Given the description of an element on the screen output the (x, y) to click on. 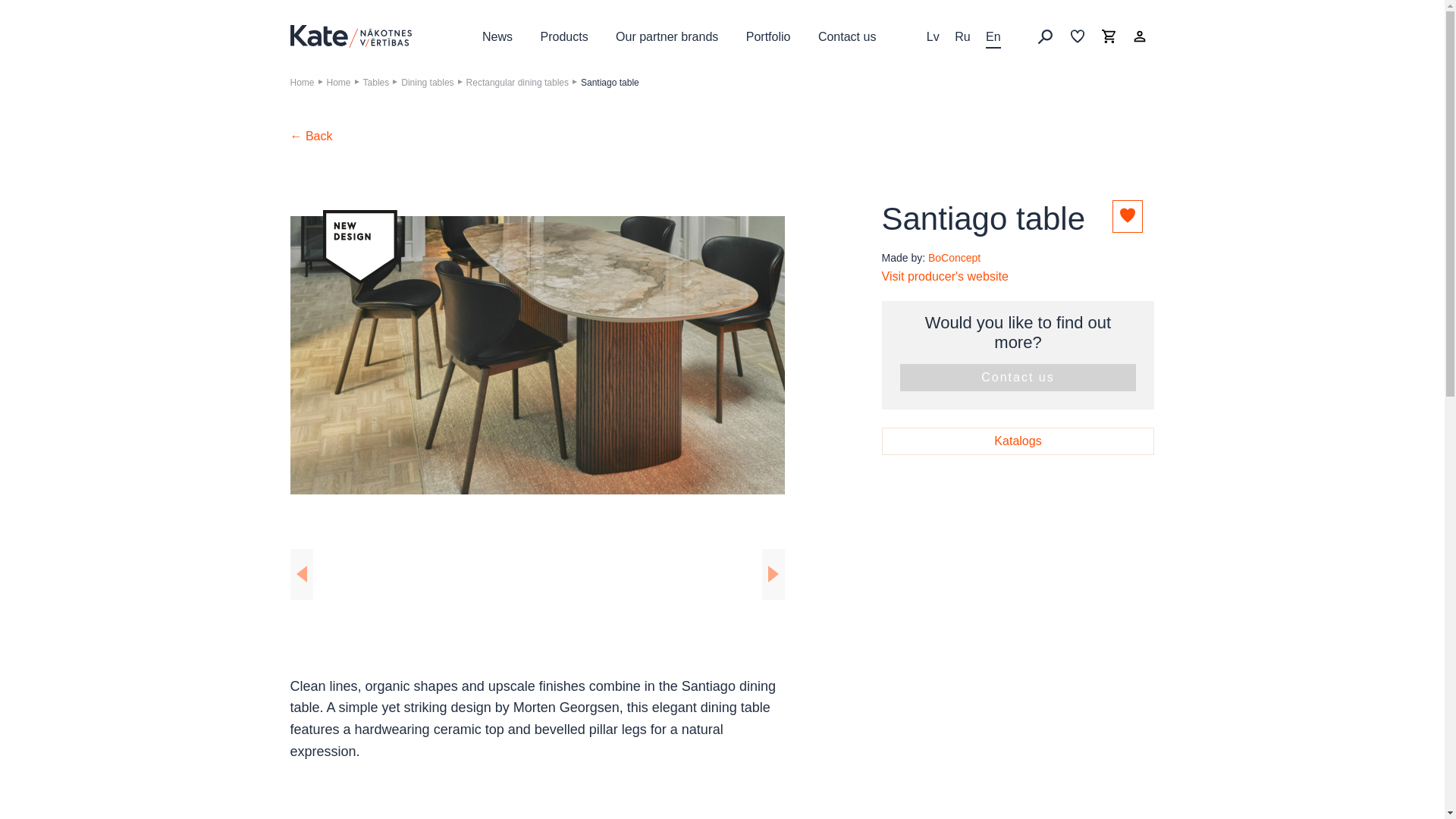
News (496, 37)
Products (564, 37)
Add to favorites list (1127, 215)
Cart (1108, 37)
My profile (1139, 36)
My favorites list (1077, 36)
Search (1044, 36)
